Given the description of an element on the screen output the (x, y) to click on. 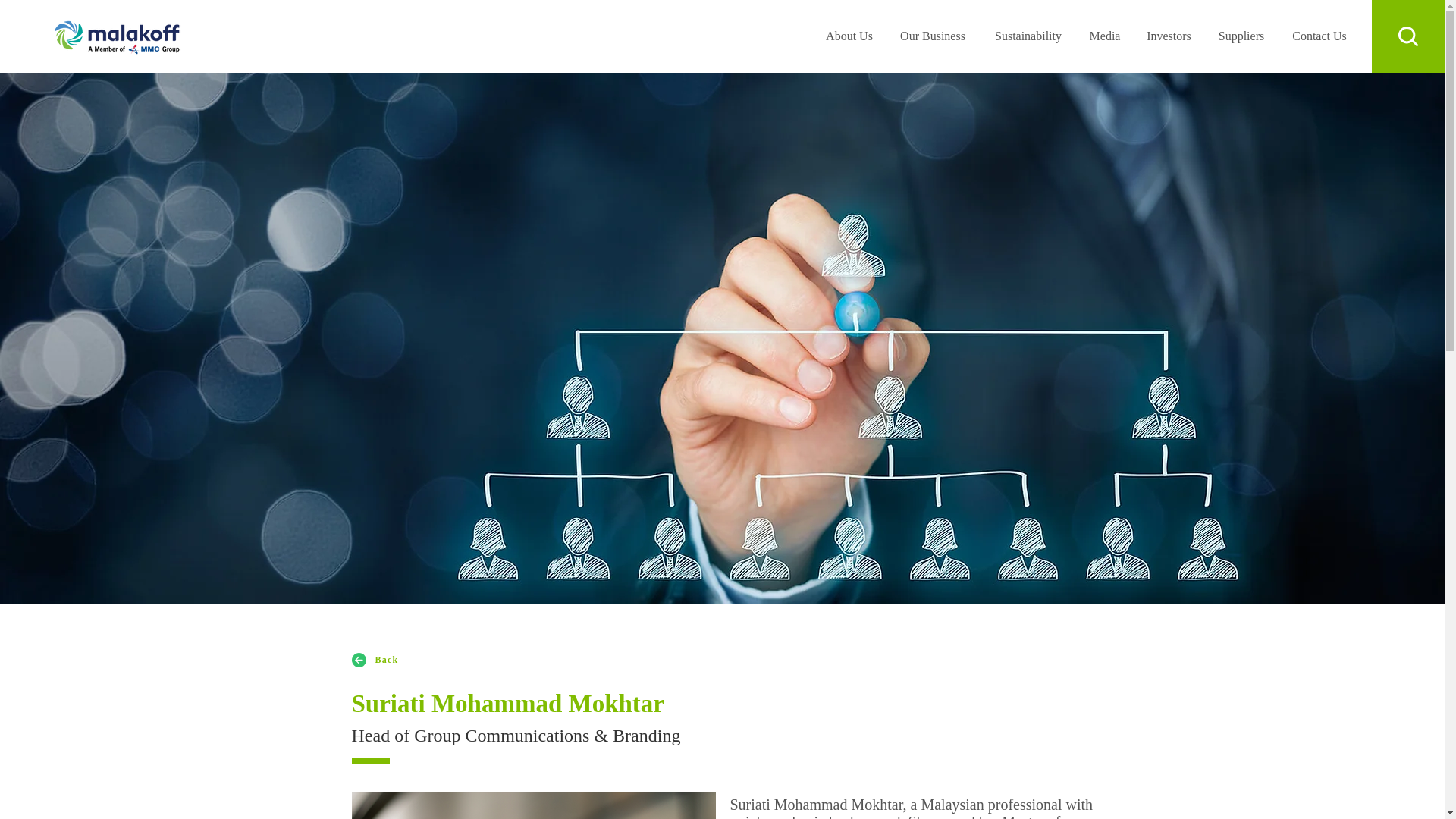
Suriati Mohammad Mokhtar (534, 805)
